Given the description of an element on the screen output the (x, y) to click on. 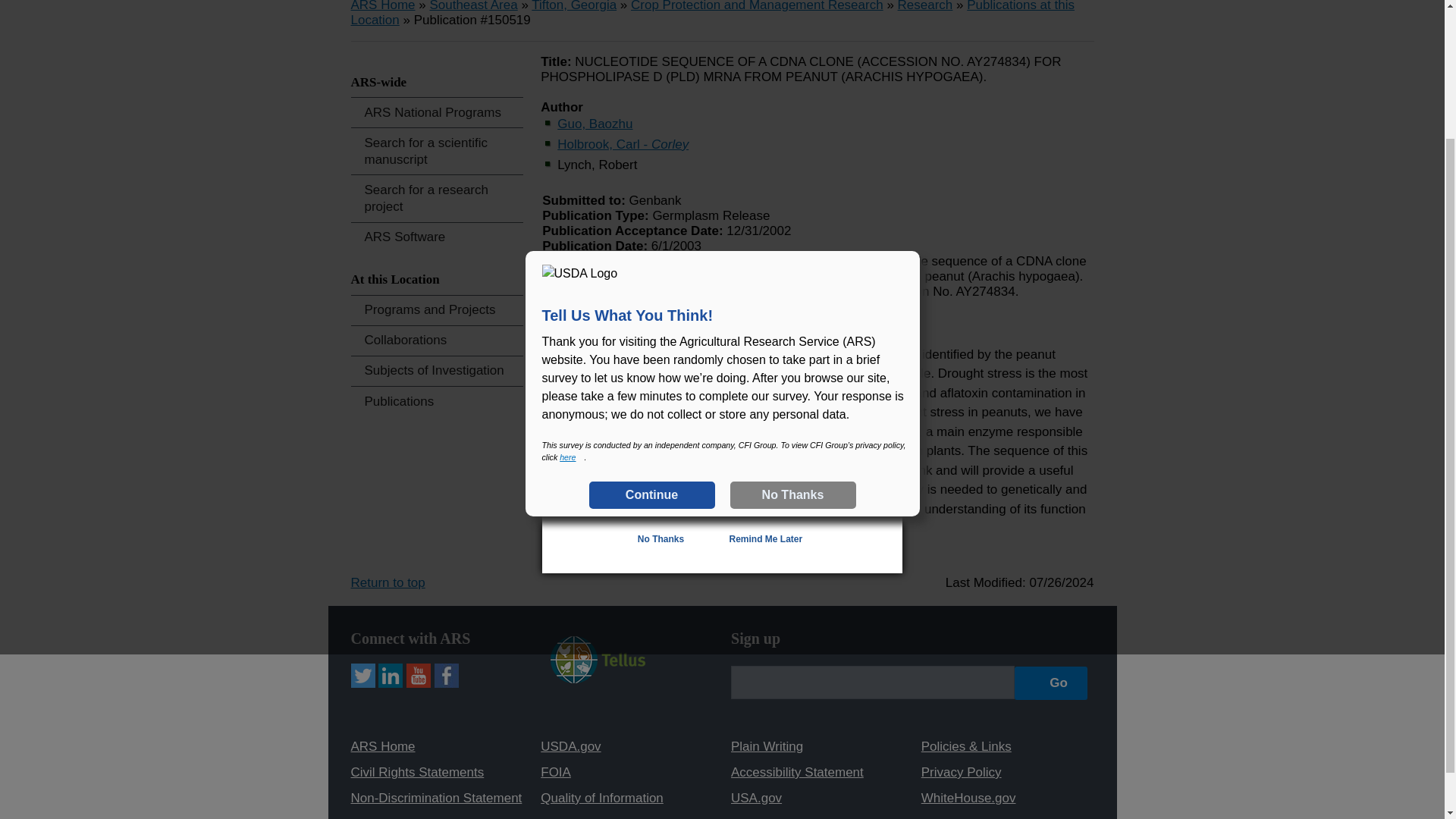
Close subscription dialog (877, 164)
ARS Home (382, 6)
Tellus (597, 677)
Tellus (597, 659)
Search for a research project (436, 198)
Research (925, 6)
Tifton, Georgia (573, 6)
Collaborations (436, 340)
Guo, Baozhu (594, 124)
Holbrook, Carl - Corley (622, 144)
LinkedIn (390, 675)
ARS Software (436, 237)
No Thanks (792, 329)
Subjects of Investigation (436, 370)
Facebook Icon (445, 675)
